Given the description of an element on the screen output the (x, y) to click on. 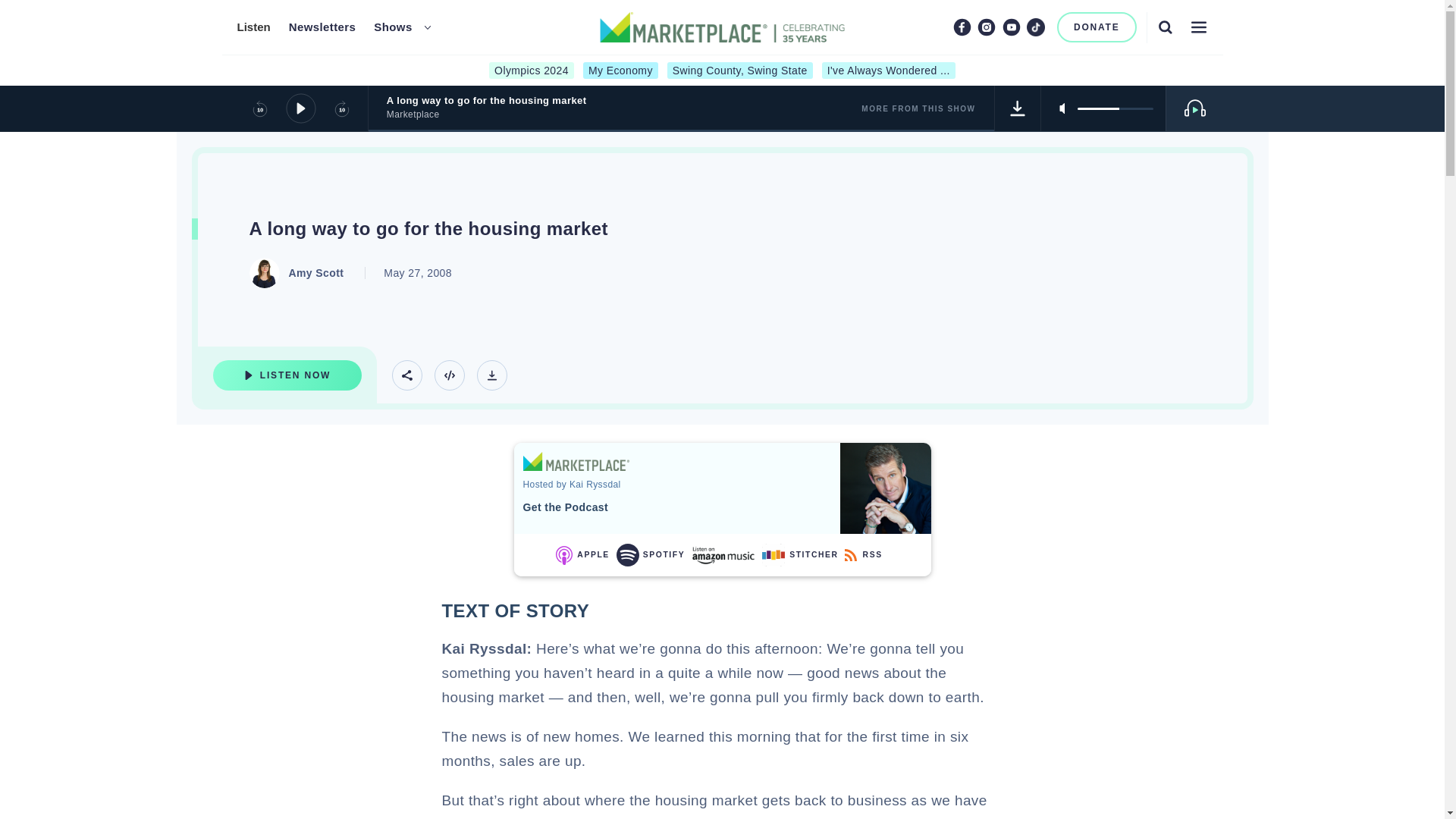
Download Track (1017, 108)
Newsletters (322, 27)
5 (1115, 108)
DONATE (1097, 27)
Facebook (962, 27)
Search (1164, 27)
Listen (252, 26)
TikTok (1035, 27)
Listen Now (286, 374)
